Given the description of an element on the screen output the (x, y) to click on. 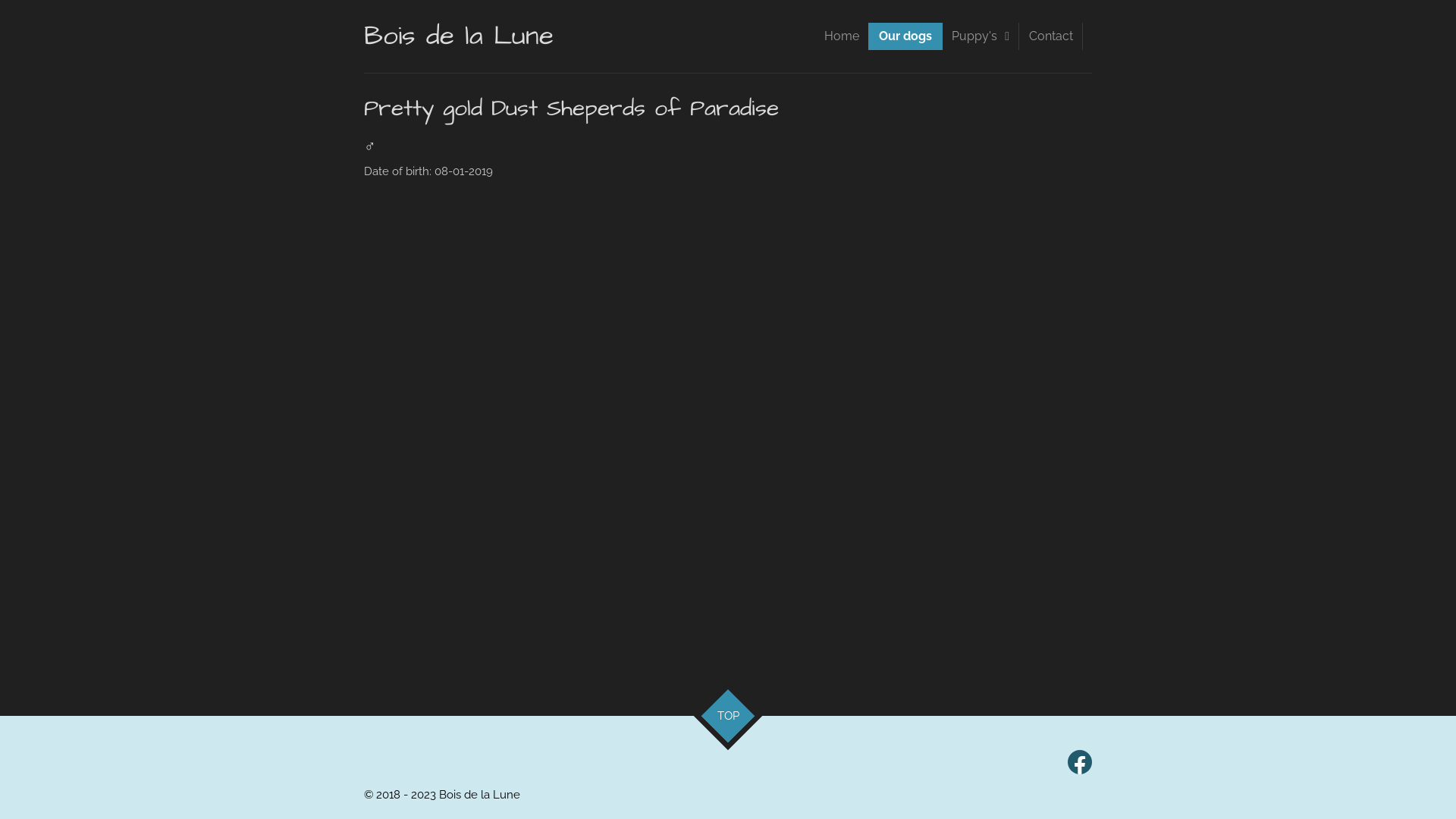
Contact Element type: text (1050, 36)
TOP Element type: text (720, 708)
Home Element type: text (841, 36)
Bois de la Lune Element type: text (458, 35)
Puppy's Element type: text (980, 36)
Our dogs Element type: text (905, 36)
